Given the description of an element on the screen output the (x, y) to click on. 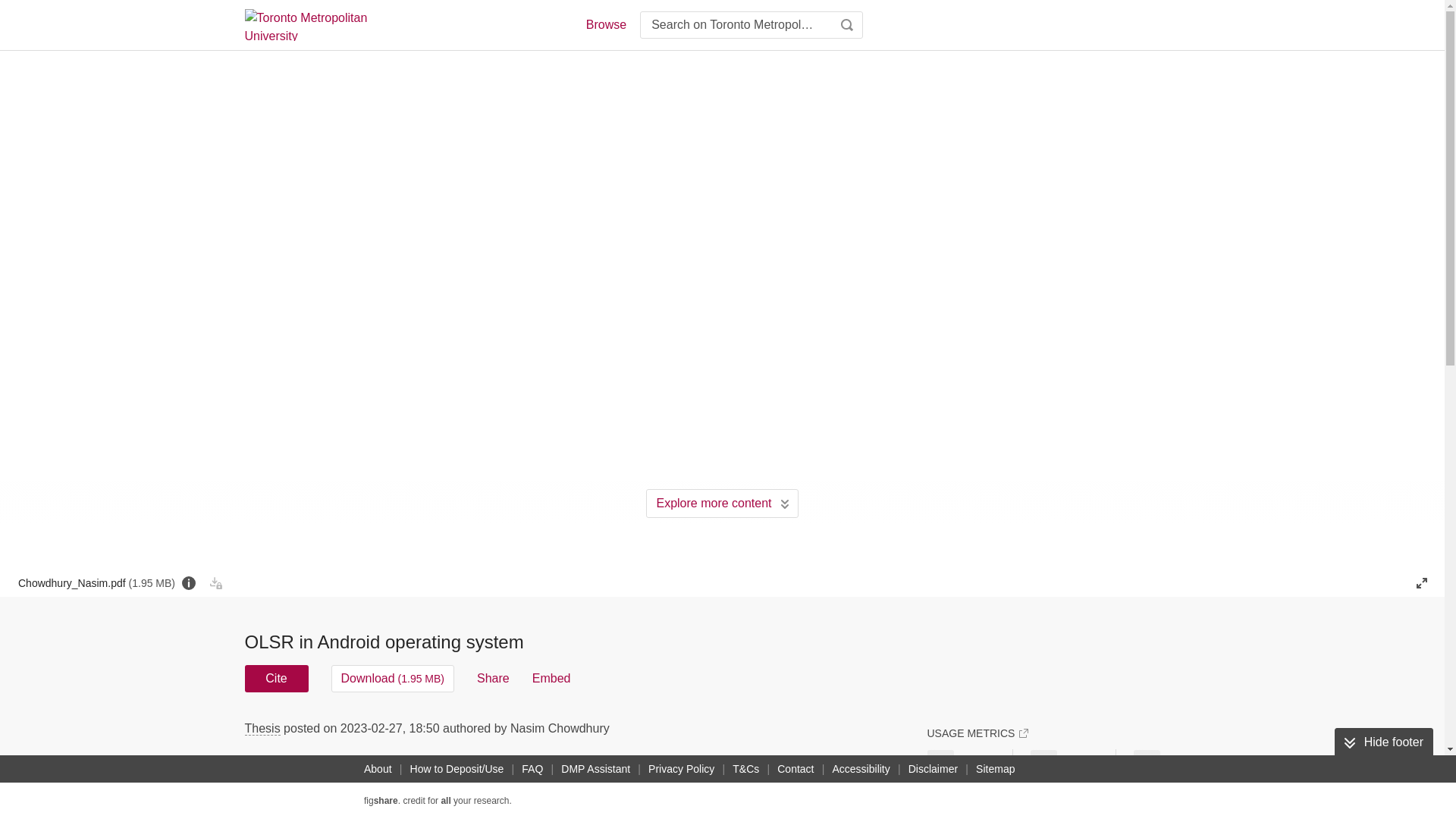
Cite (275, 678)
Sitemap (995, 769)
Embed (551, 678)
Accessibility (861, 769)
USAGE METRICS (976, 732)
Disclaimer (933, 769)
Hide footer (1383, 742)
Browse (605, 24)
Share (493, 678)
Explore more content (721, 502)
DMP Assistant (595, 769)
Privacy Policy (681, 769)
FAQ (531, 769)
Contact (795, 769)
